Given the description of an element on the screen output the (x, y) to click on. 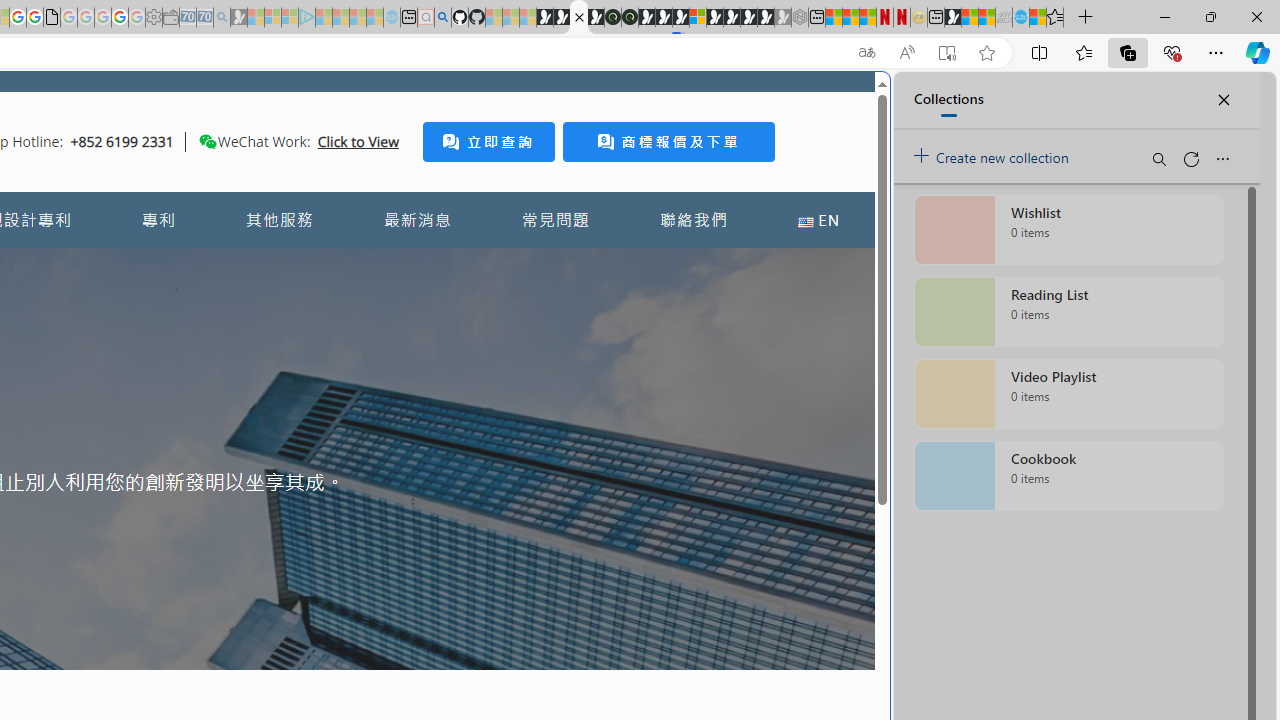
Frequently visited (418, 265)
Services - Maintenance | Sky Blue Bikes - Sky Blue Bikes (1020, 17)
Play Zoo Boom in your browser | Games from Microsoft Start (561, 17)
github - Search (442, 17)
Tabs you've opened (276, 265)
Settings - Sleeping (153, 17)
